Given the description of an element on the screen output the (x, y) to click on. 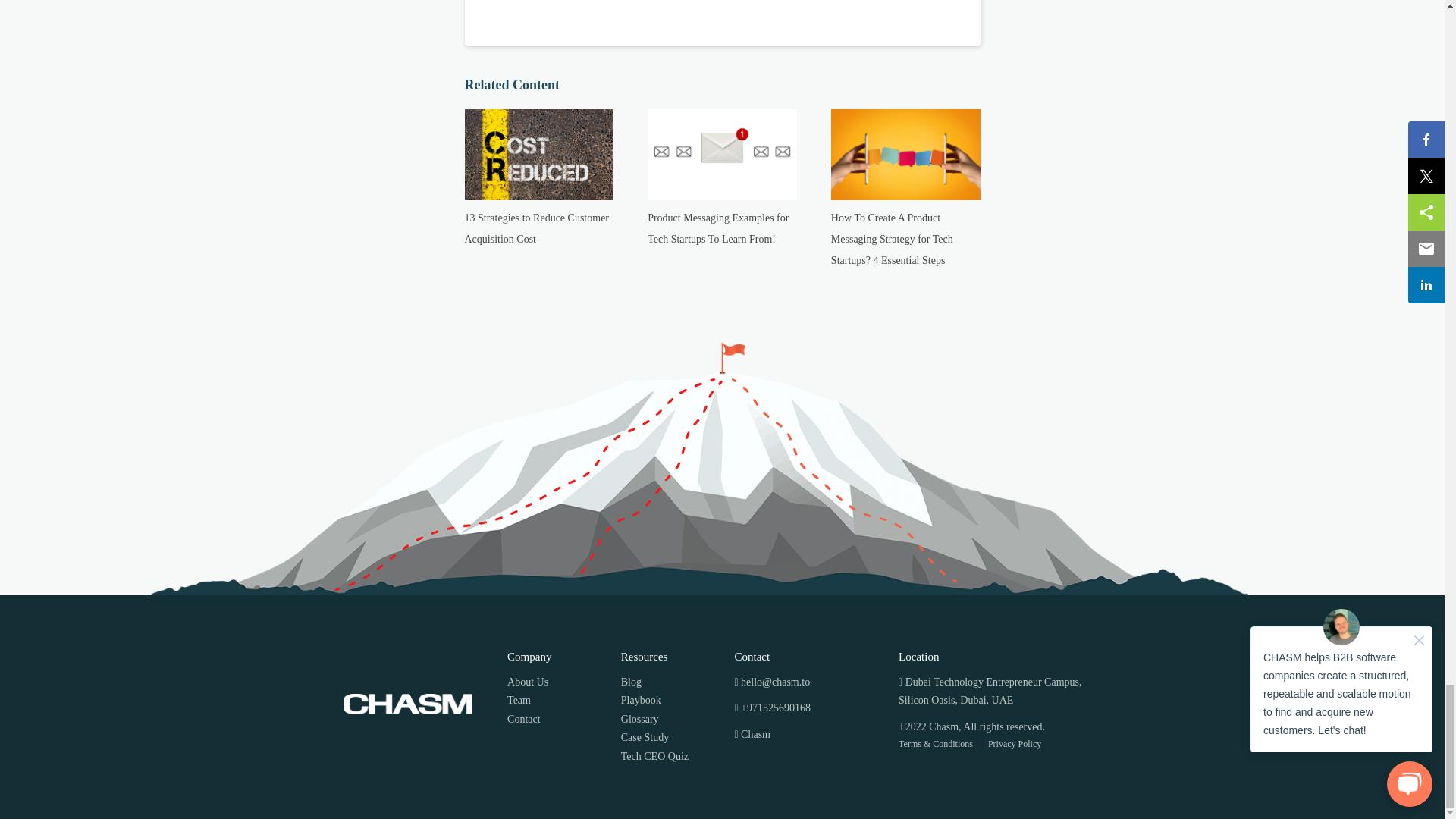
Glossary (671, 719)
Product Messaging Examples for Tech Startups To Learn From! (718, 228)
About Us (557, 682)
Team (557, 700)
13 Strategies to Reduce Customer Acquisition Cost (536, 228)
13 Strategies to Reduce Customer Acquisition Cost (536, 228)
Contact (557, 719)
Playbook (671, 700)
Blog (671, 682)
Product Messaging Examples for Tech Startups To Learn From! (718, 228)
